Given the description of an element on the screen output the (x, y) to click on. 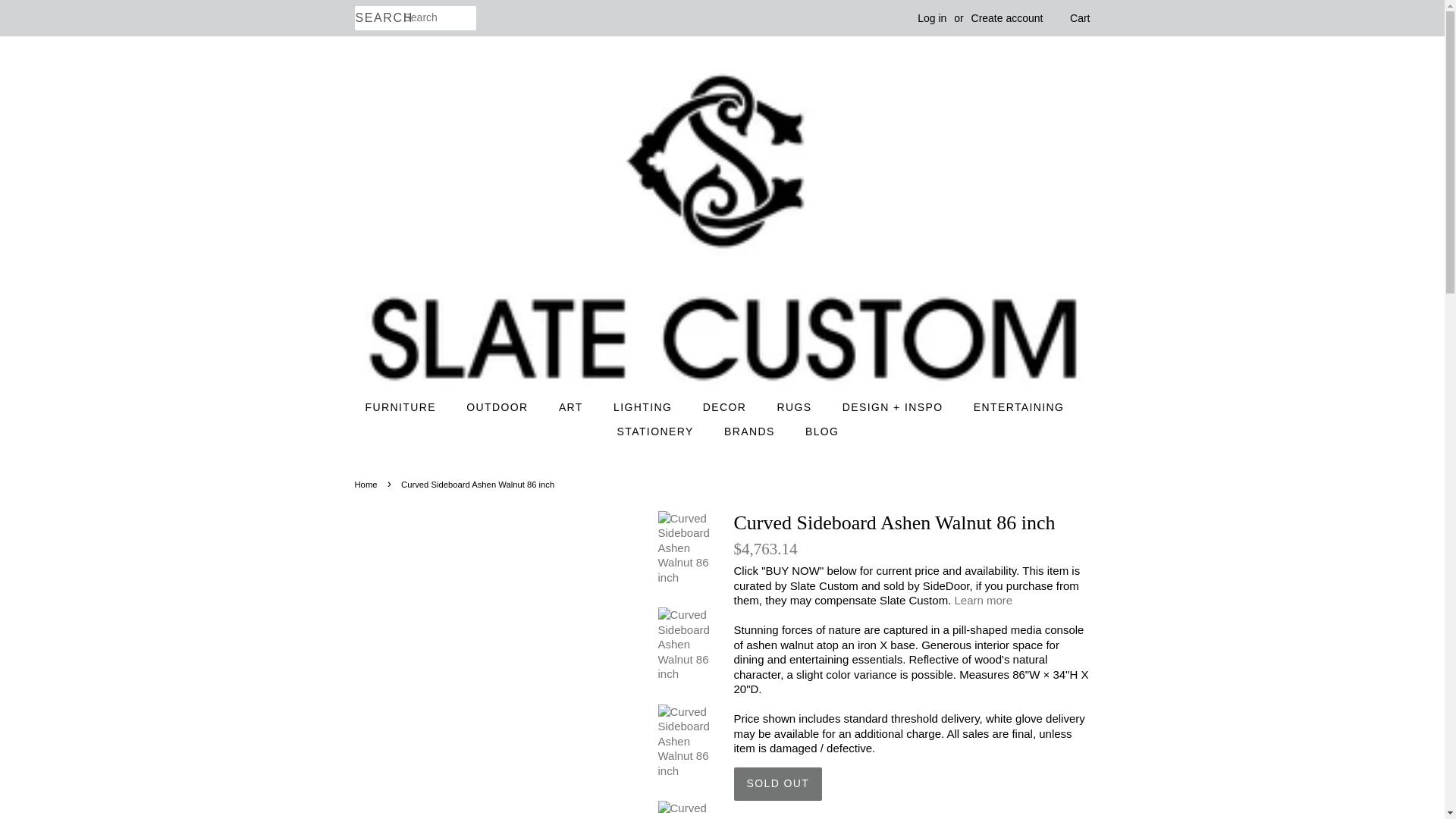
Cart (1079, 18)
Log in (931, 18)
SEARCH (379, 18)
Back to the frontpage (368, 483)
Create account (1007, 18)
